Given the description of an element on the screen output the (x, y) to click on. 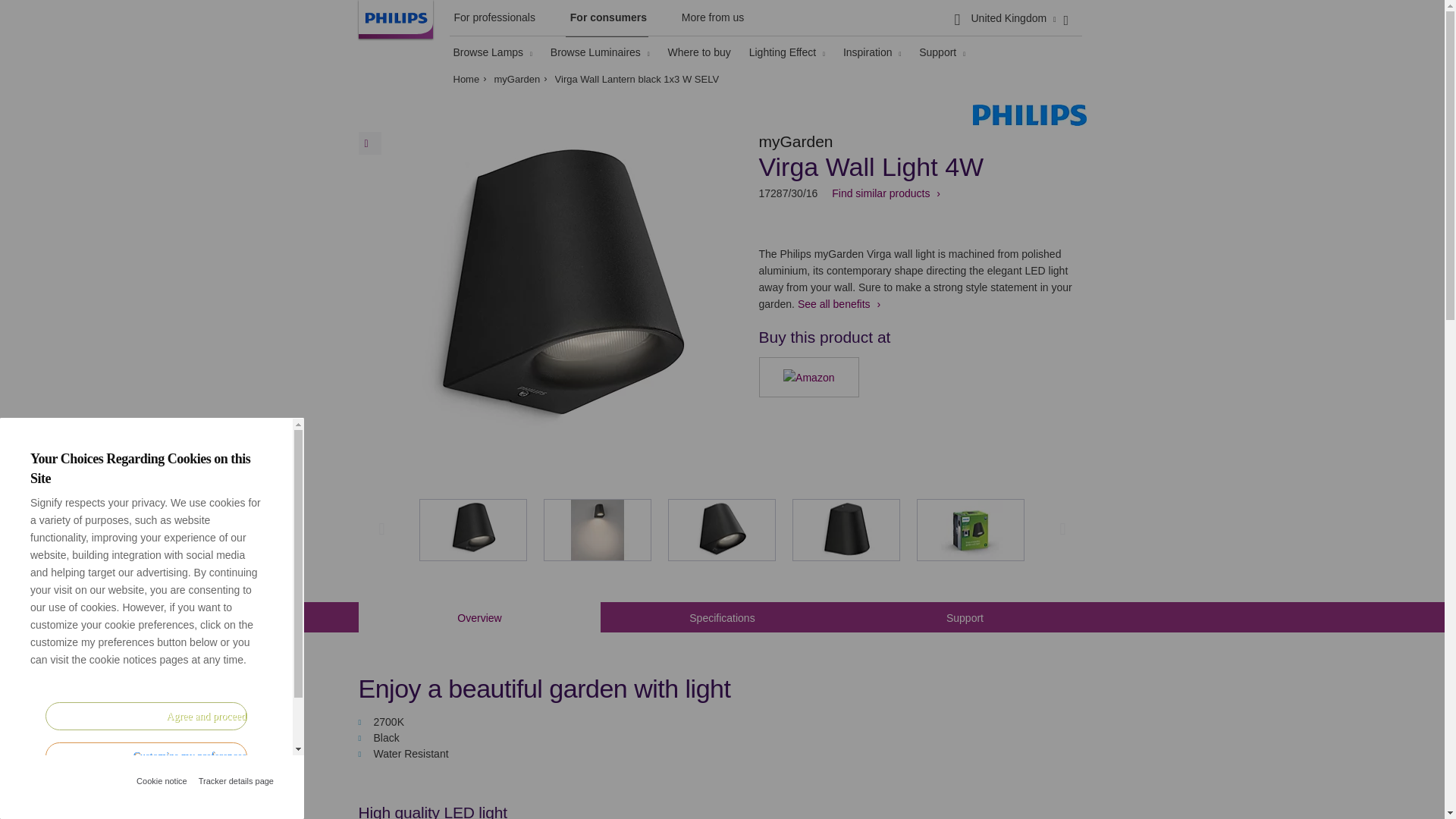
Where to buy (699, 51)
For professionals (491, 19)
More from us (711, 19)
For consumers (606, 20)
